Given the description of an element on the screen output the (x, y) to click on. 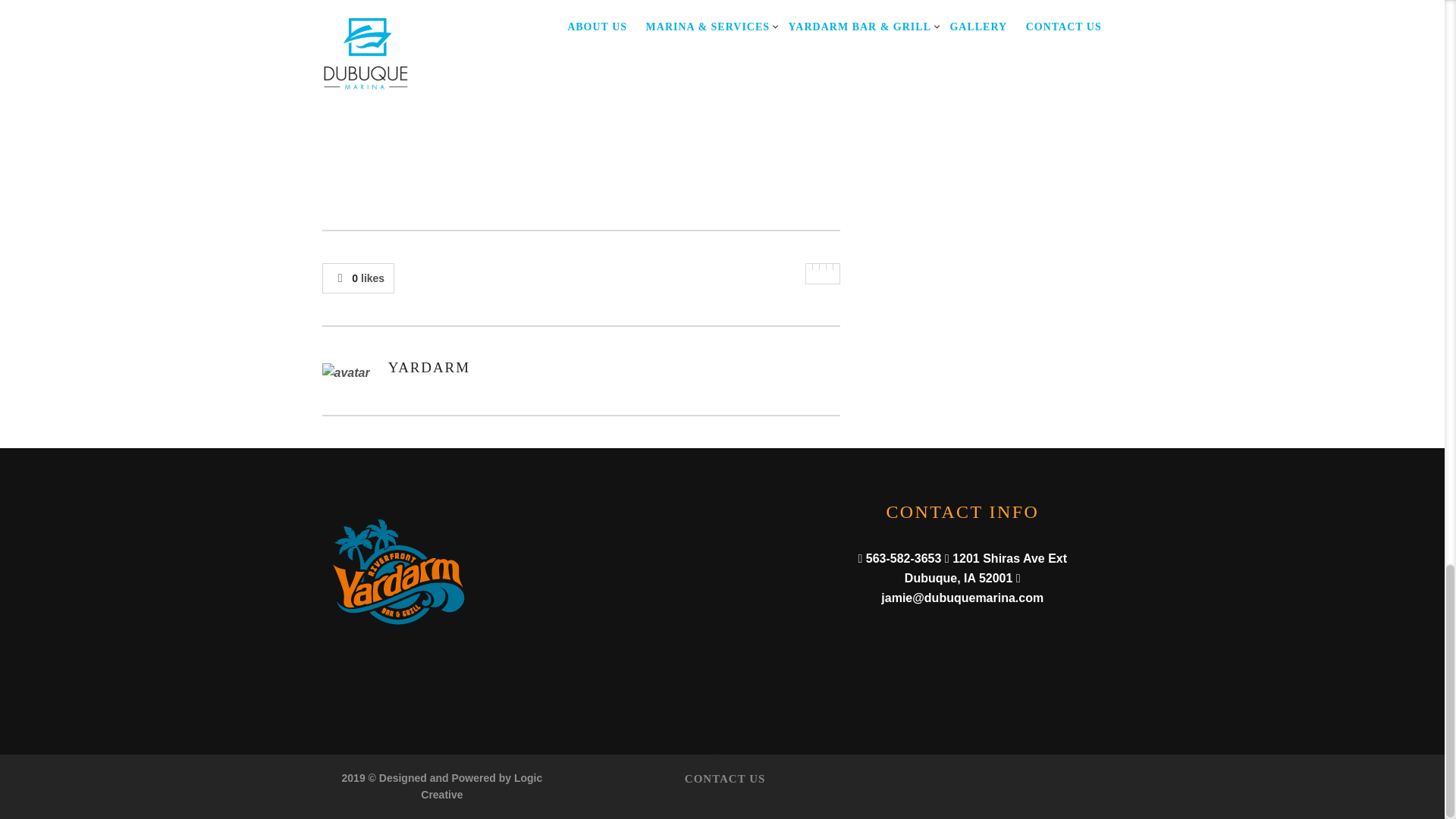
YARDARM (429, 367)
Too Little Too Late (580, 68)
Posts by yardarm (429, 367)
